Given the description of an element on the screen output the (x, y) to click on. 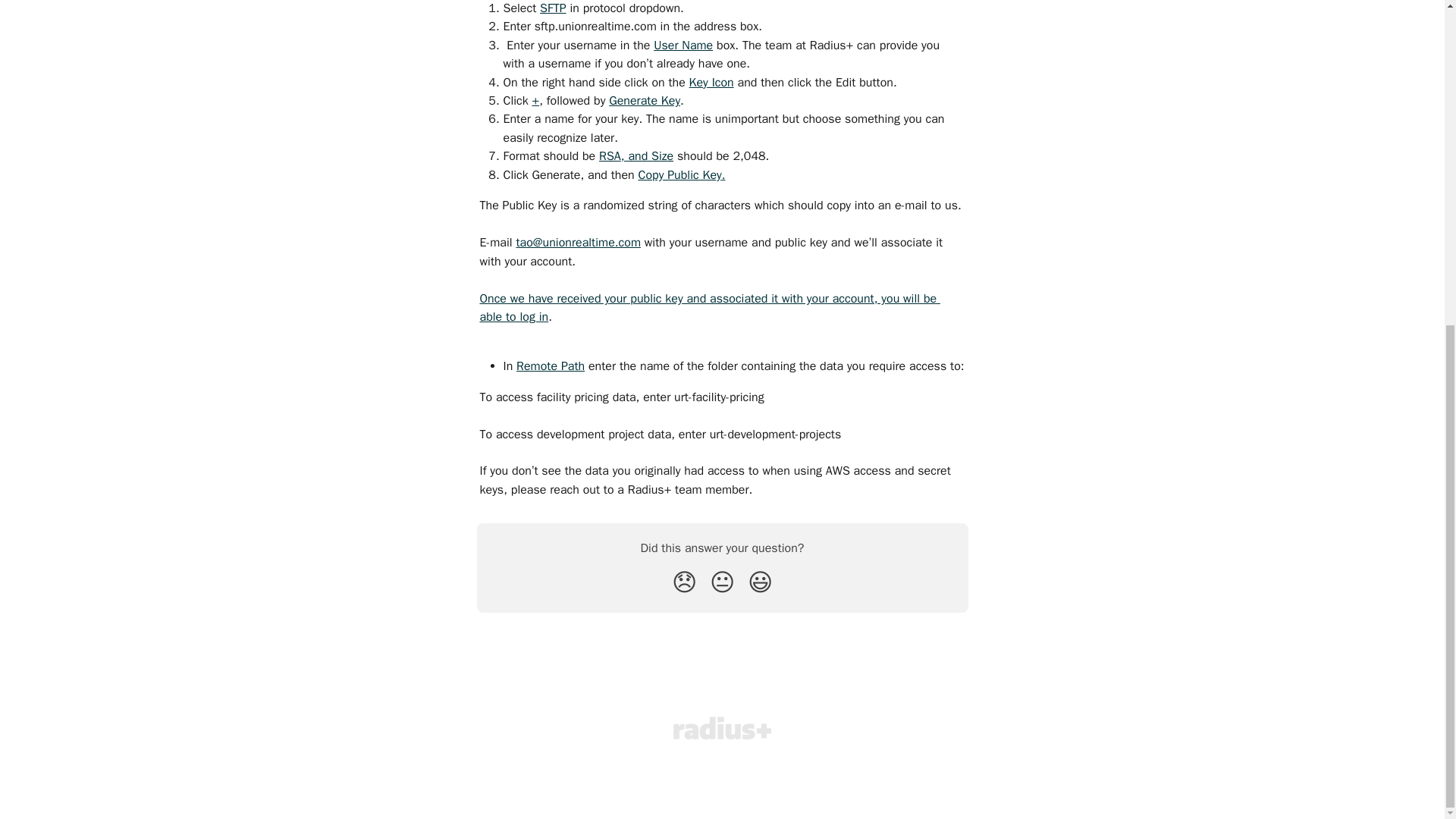
RSA (609, 157)
Remote Path (550, 367)
, and Size (646, 157)
Generate Key (643, 102)
Key Icon (710, 83)
Copy Public Key (678, 176)
SFTP (553, 9)
User Name (683, 46)
